Given the description of an element on the screen output the (x, y) to click on. 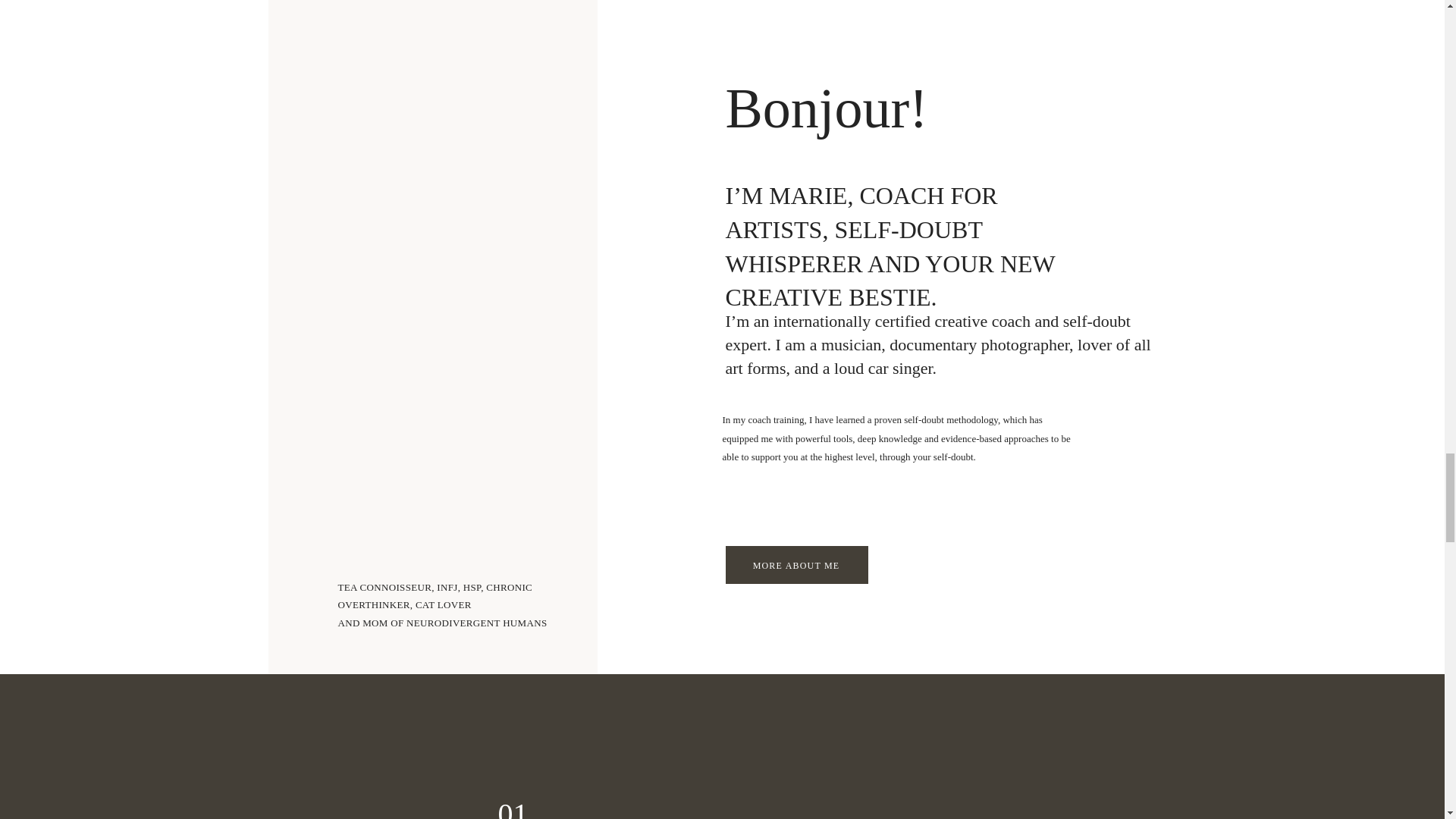
MORE ABOUT ME (795, 564)
